Given the description of an element on the screen output the (x, y) to click on. 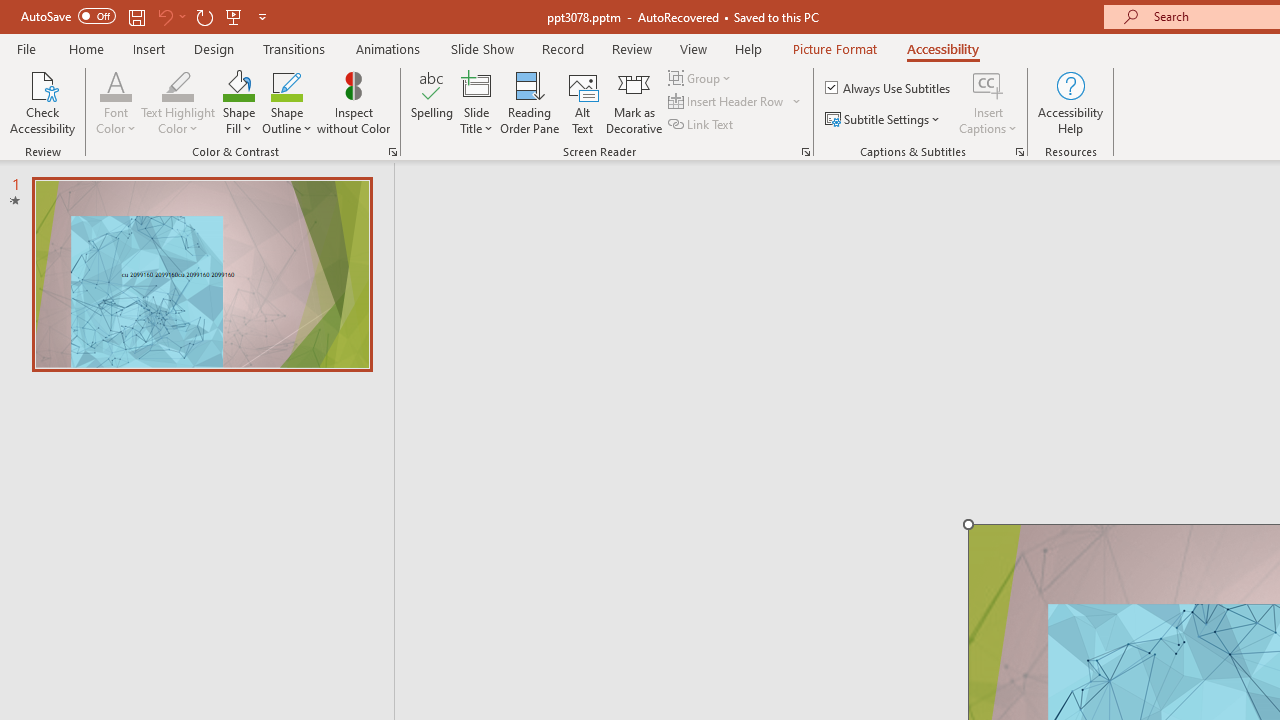
Picture Format (834, 48)
Shape Outline (286, 102)
Alt Text (582, 102)
Captions & Subtitles (1019, 151)
Shape Fill (238, 102)
